Given the description of an element on the screen output the (x, y) to click on. 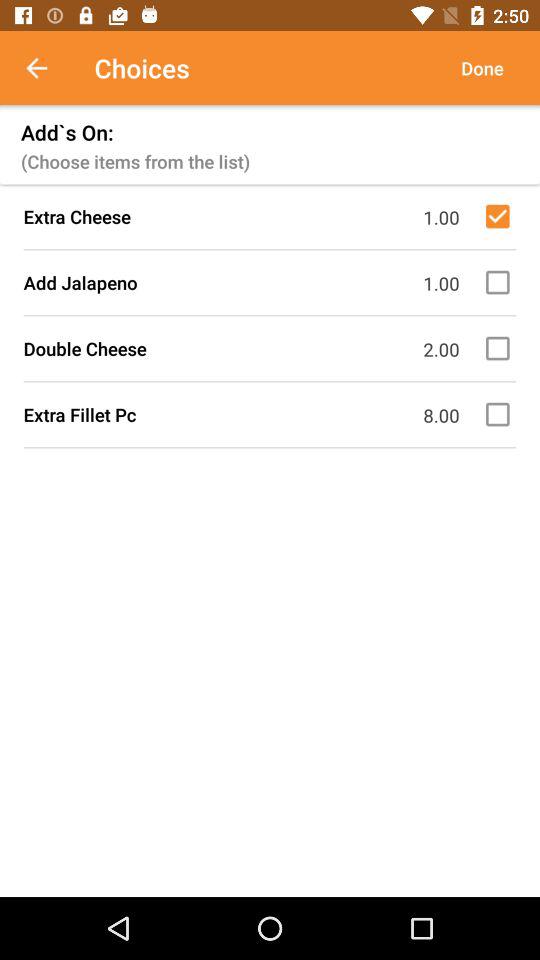
select icon above extra cheese (482, 67)
